Given the description of an element on the screen output the (x, y) to click on. 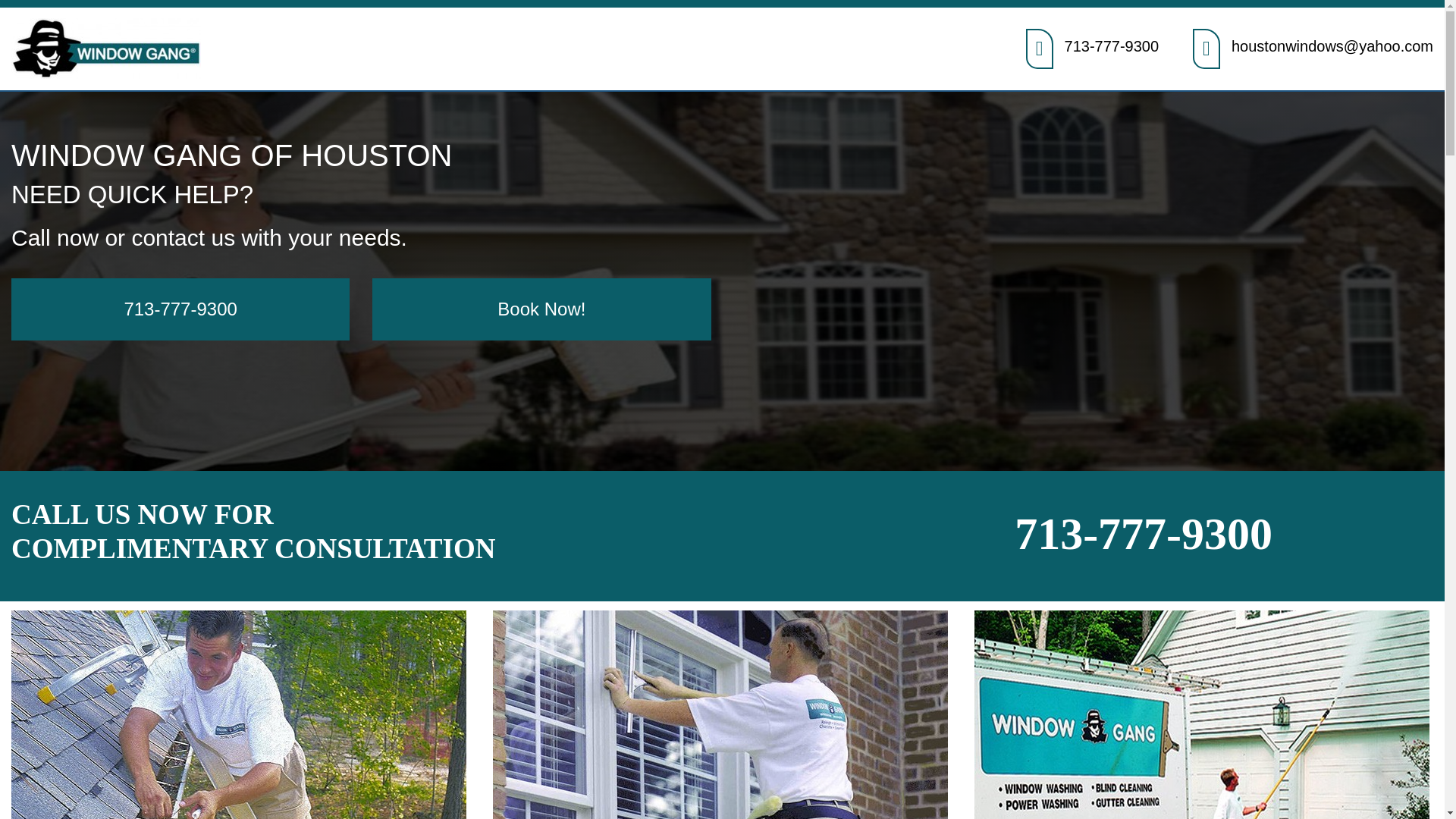
713-777-9300 (1142, 533)
Book Now! (541, 309)
713-777-9300 (180, 309)
713-777-9300 (1111, 45)
